Given the description of an element on the screen output the (x, y) to click on. 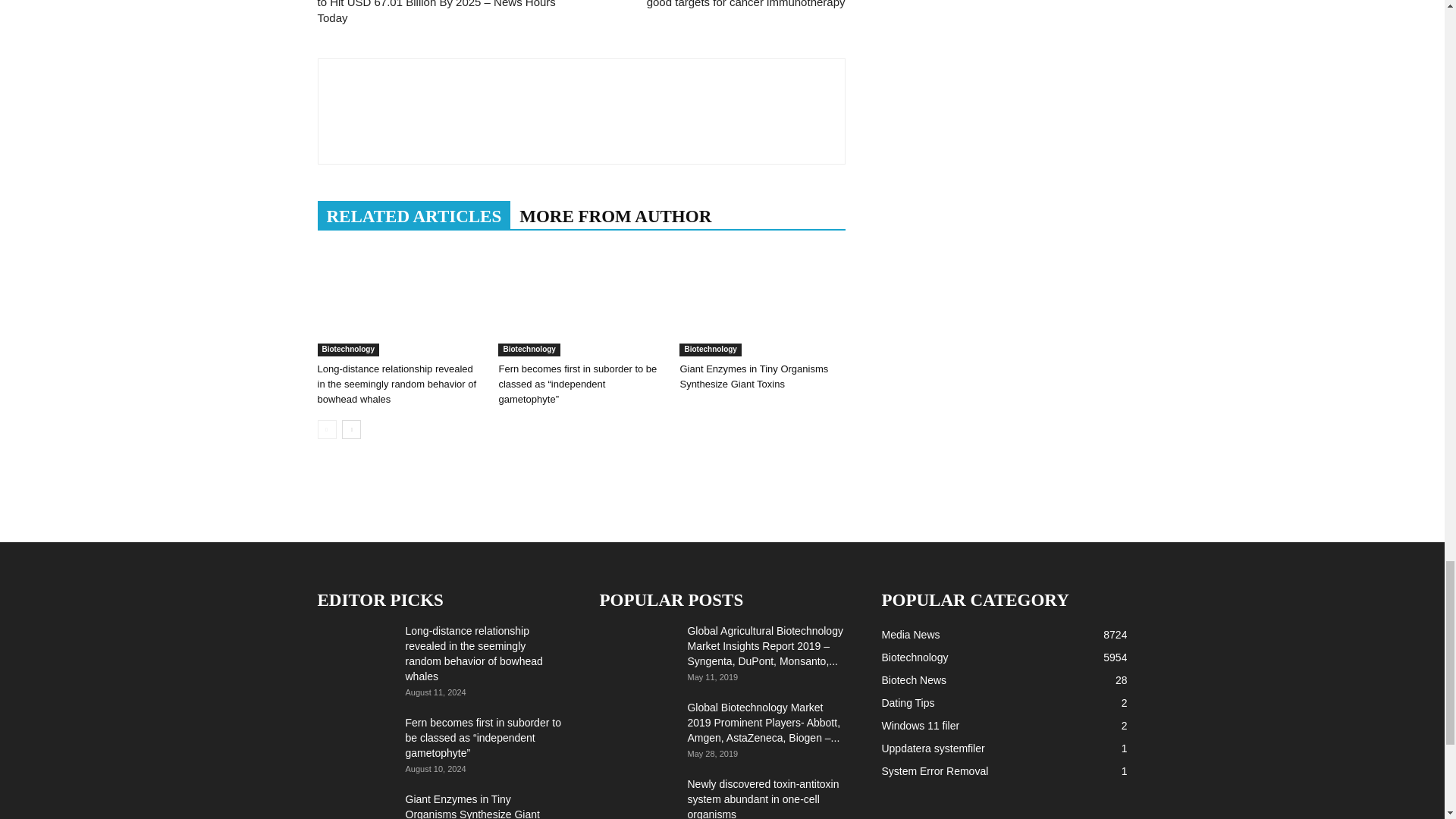
Giant Enzymes in Tiny Organisms Synthesize Giant Toxins (761, 299)
